Given the description of an element on the screen output the (x, y) to click on. 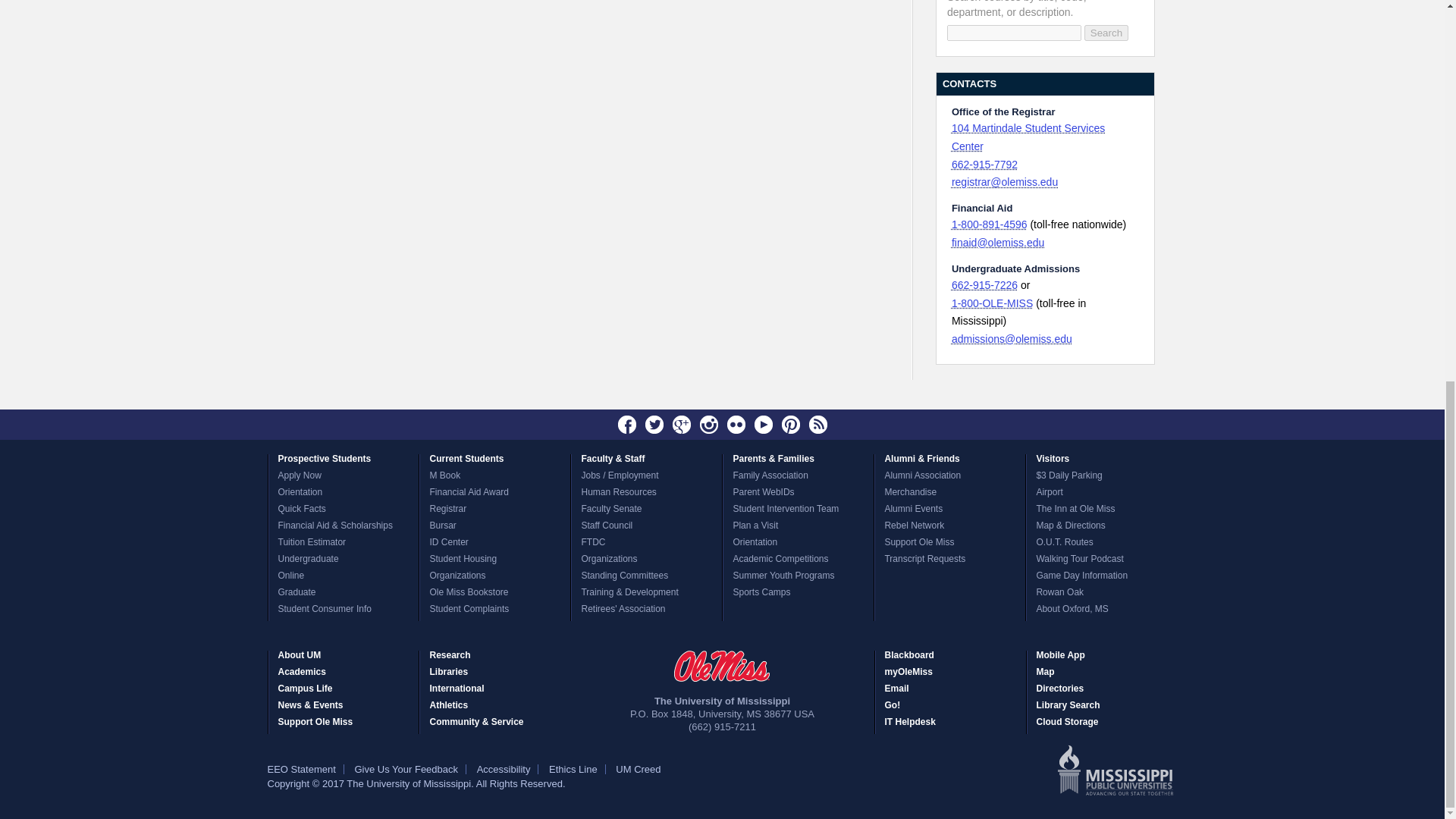
Flickr (735, 424)
Youtube (763, 424)
News Feed (818, 424)
Instagram (708, 424)
Pinterest (790, 424)
Twitter (654, 424)
Search (1106, 32)
Facebook (627, 424)
